Given the description of an element on the screen output the (x, y) to click on. 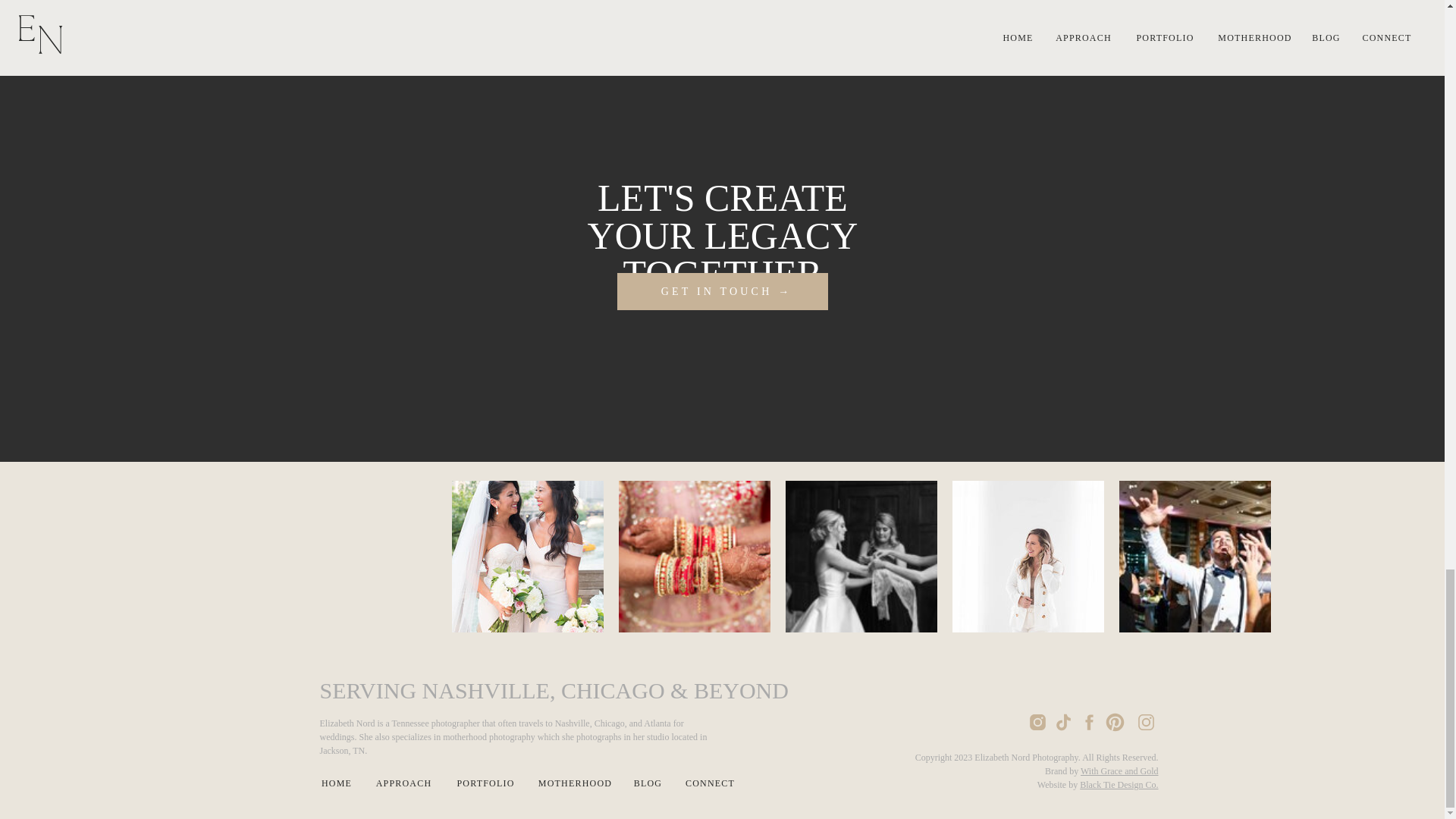
PORTFOLIO (484, 783)
MOTHERHOOD (575, 783)
Hall-Humphrey-Wedding-133 (861, 556)
BLOG (646, 783)
APPROACH (403, 783)
Black Tie Design Co. (1118, 784)
With Grace and Gold (1118, 770)
Elizabeth-Nord-Photography-Nashville-Photographer-40 (1027, 556)
LET'S CREATE YOUR LEGACY TOGETHER (721, 220)
CONNECT (710, 783)
